Given the description of an element on the screen output the (x, y) to click on. 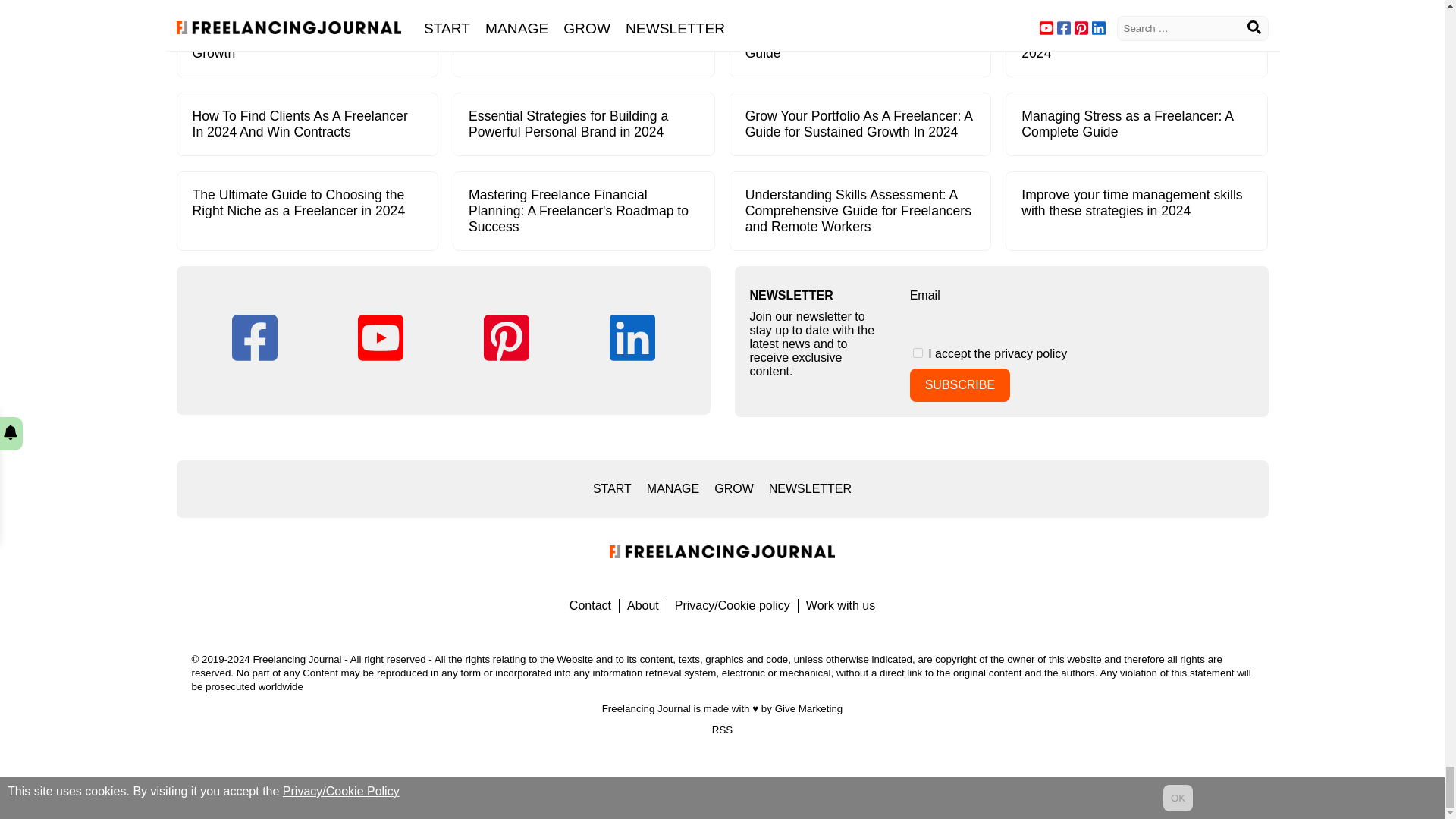
Subscribe (960, 384)
on (917, 352)
